Given the description of an element on the screen output the (x, y) to click on. 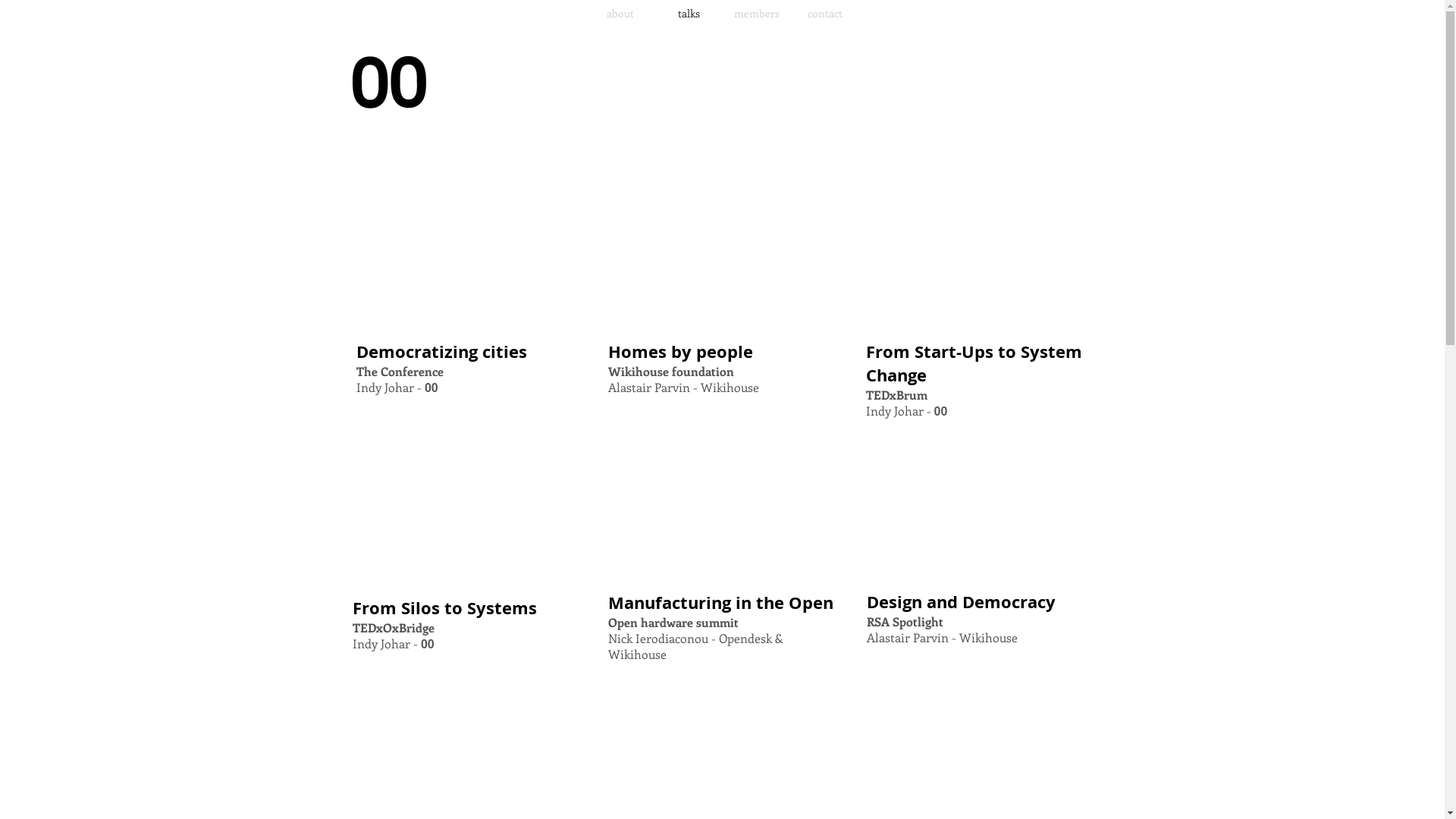
members Element type: text (756, 13)
External YouTube Element type: hover (979, 503)
External YouTube Element type: hover (464, 509)
about Element type: text (620, 13)
External YouTube Element type: hover (721, 253)
External Vimeo Element type: hover (721, 504)
contact Element type: text (824, 13)
External YouTube Element type: hover (464, 253)
External YouTube Element type: hover (979, 253)
talks Element type: text (688, 13)
